Given the description of an element on the screen output the (x, y) to click on. 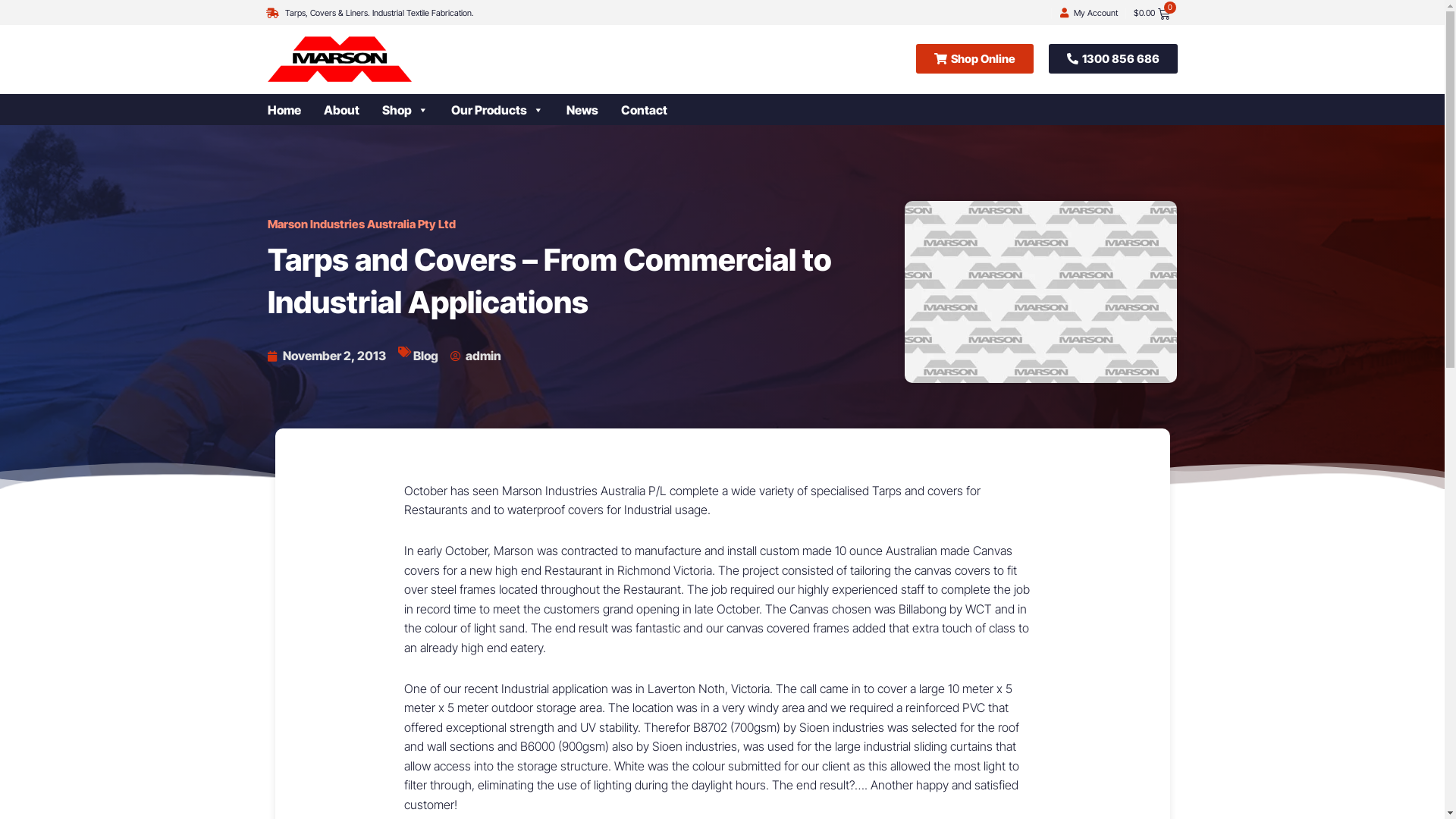
Shop Element type: text (416, 109)
1300 856 686 Element type: text (1112, 58)
Shop Online Element type: text (974, 58)
admin Element type: text (475, 356)
November 2, 2013 Element type: text (325, 356)
Blog Element type: text (424, 355)
Our Products Element type: text (507, 109)
Contact Element type: text (654, 109)
My Account Element type: text (1095, 12)
Home Element type: text (294, 109)
News Element type: text (592, 109)
About Element type: text (352, 109)
$0.00
0
Cart Element type: text (1151, 10)
